Given the description of an element on the screen output the (x, y) to click on. 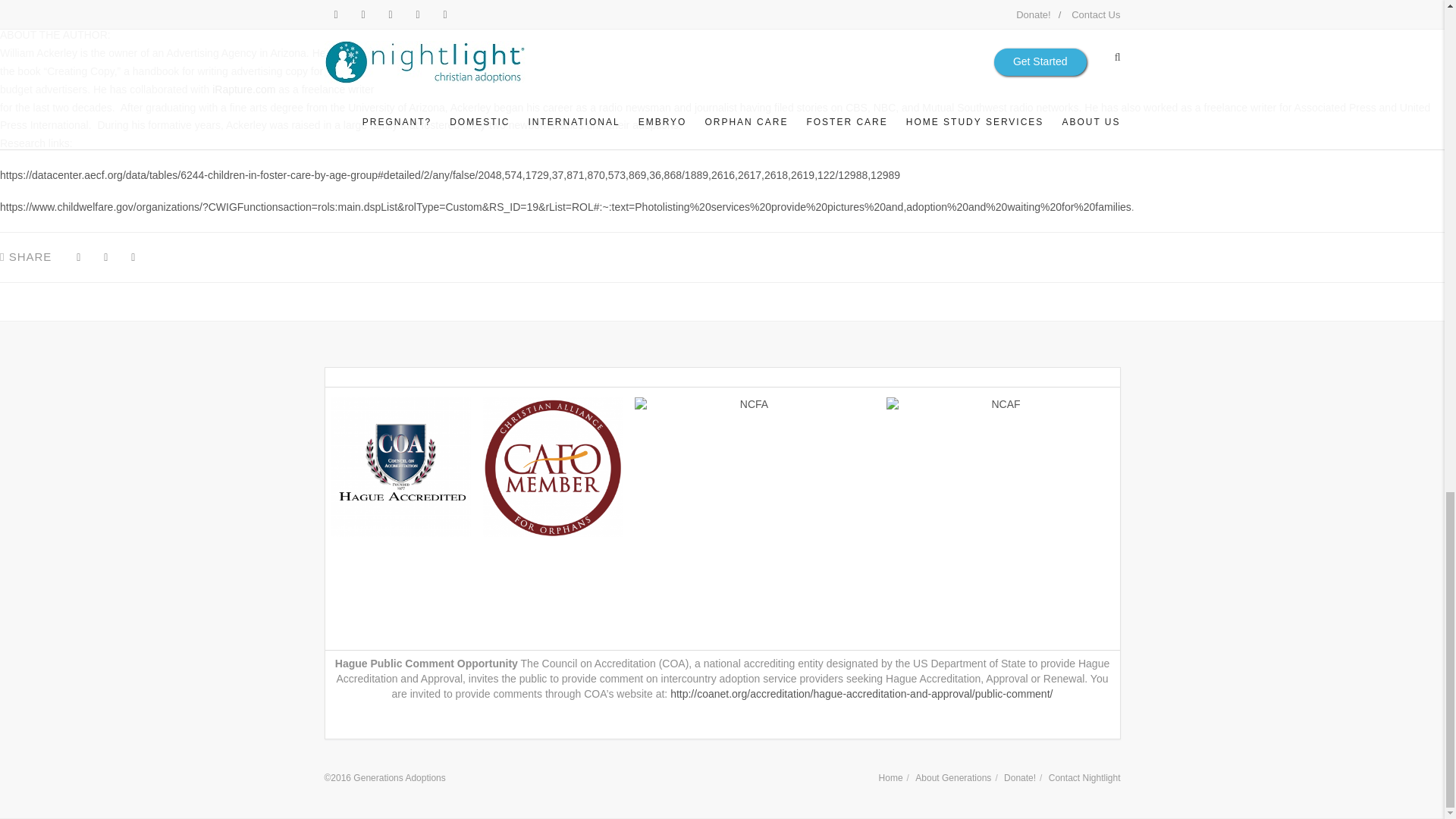
Share on Facebook (77, 257)
Tweet (105, 257)
Email (132, 257)
